Given the description of an element on the screen output the (x, y) to click on. 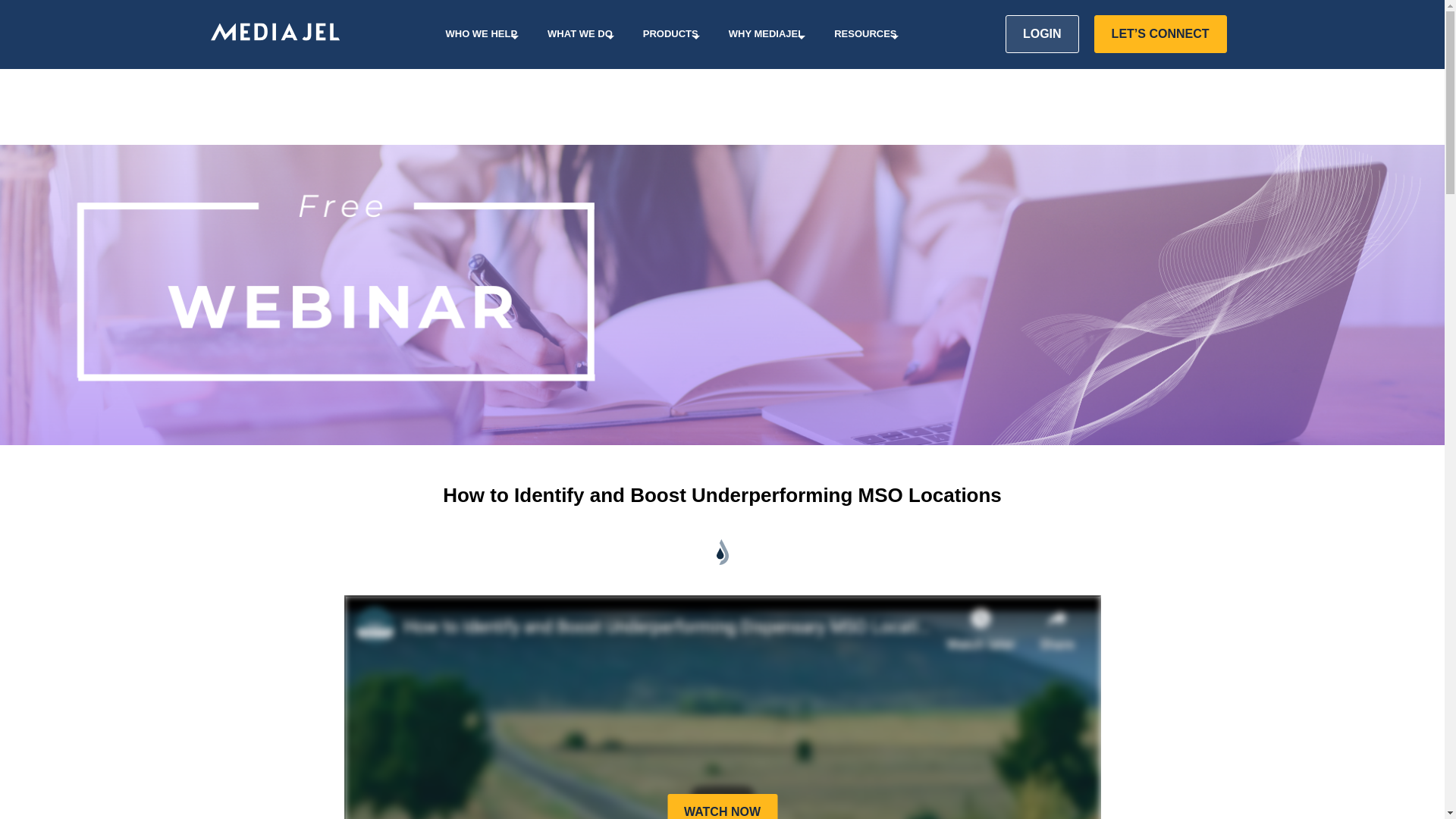
jelldrop (722, 551)
WHY MEDIAJEL (765, 33)
RESOURCES (864, 33)
WHO WE HELP (480, 33)
PRODUCTS (670, 33)
WHAT WE DO (579, 33)
